Given the description of an element on the screen output the (x, y) to click on. 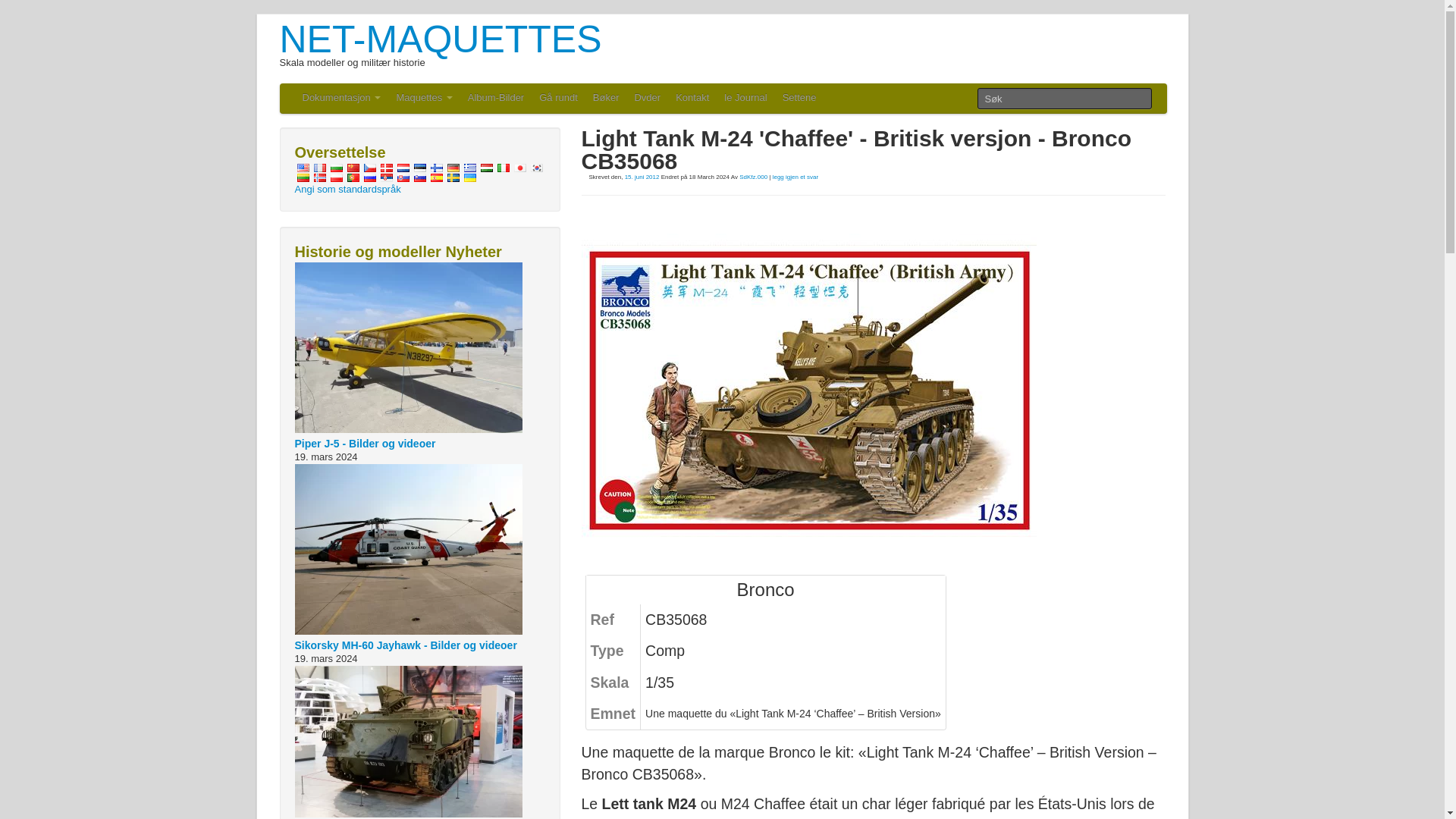
NET-MAQUETTES (440, 39)
Dansk (385, 167)
Dokumentasjon (341, 98)
Maquettes (424, 98)
Eesti keel (419, 167)
5 timer 28 min (641, 176)
NET-MAQUETTES (440, 39)
English (302, 167)
Se alle innlegg av SdKfz.000 (753, 176)
Nederlands (402, 167)
